Given the description of an element on the screen output the (x, y) to click on. 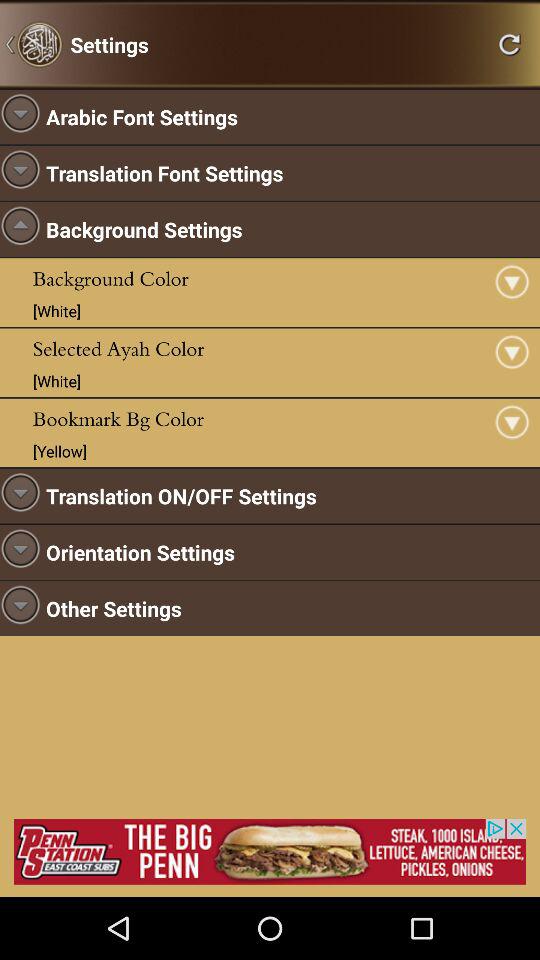
click to refresh (509, 44)
